Given the description of an element on the screen output the (x, y) to click on. 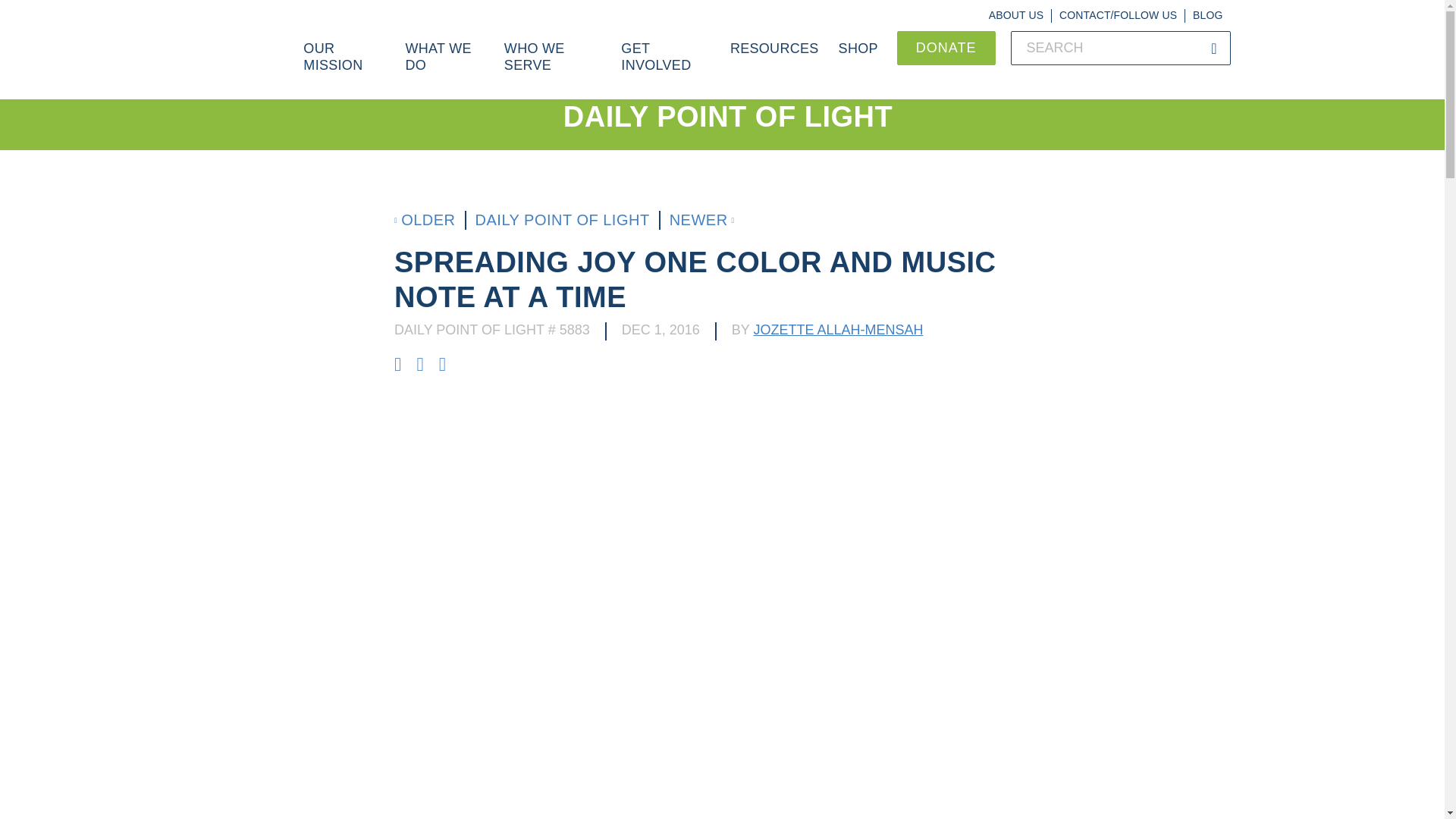
WHAT WE DO (443, 65)
WHO WE SERVE (553, 65)
OUR MISSION (344, 65)
ABOUT US (1016, 15)
BLOG (1207, 15)
